Given the description of an element on the screen output the (x, y) to click on. 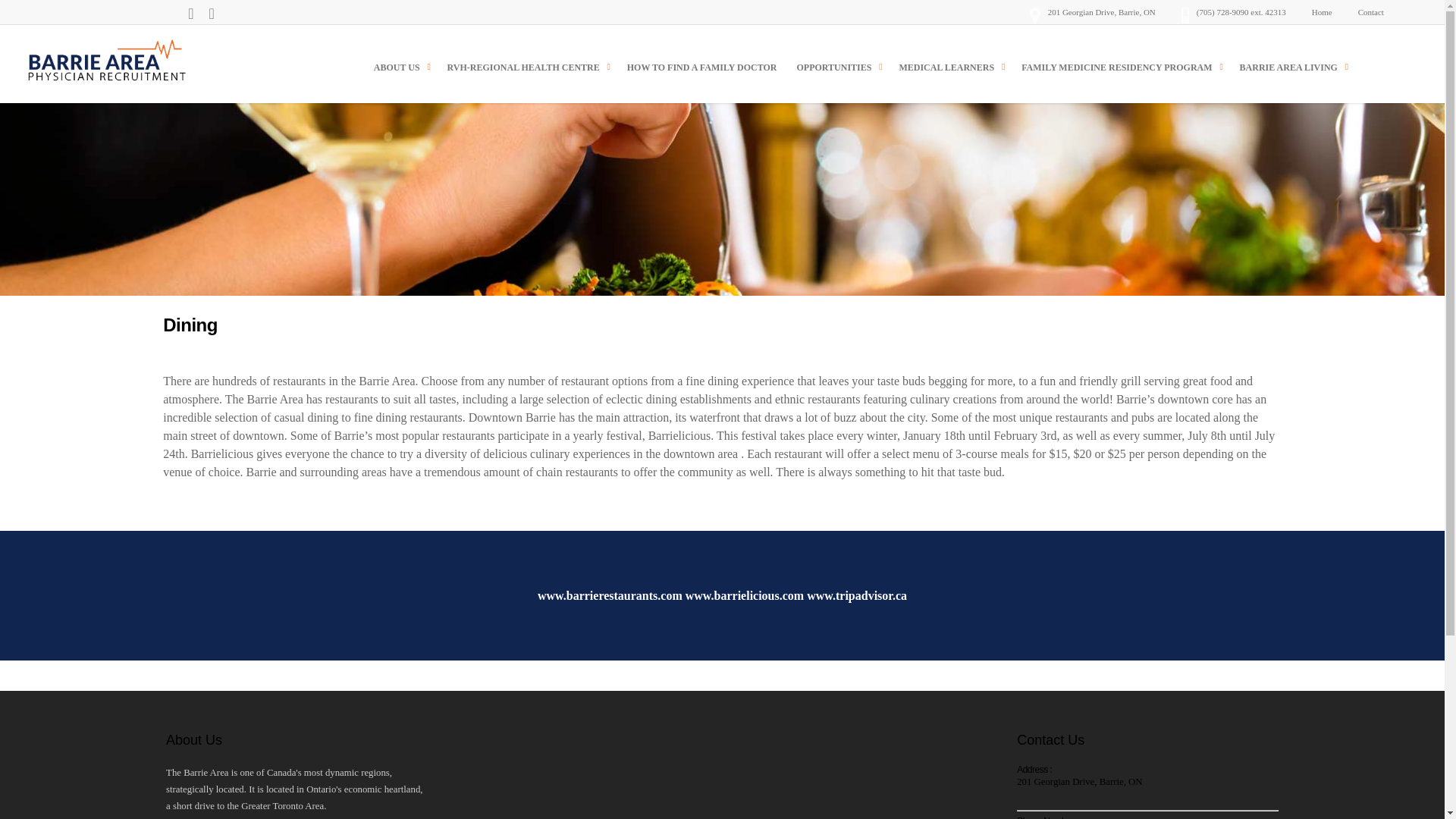
Home (1321, 12)
OPPORTUNITIES (837, 65)
ABOUT US (400, 65)
Contact (1371, 12)
HOW TO FIND A FAMILY DOCTOR (702, 65)
Medicine Residency Program (1120, 65)
RVH-REGIONAL HEALTH CENTRE (526, 65)
201 Georgian Drive, Barrie, ON (1092, 12)
MEDICAL LEARNERS (949, 65)
